Given the description of an element on the screen output the (x, y) to click on. 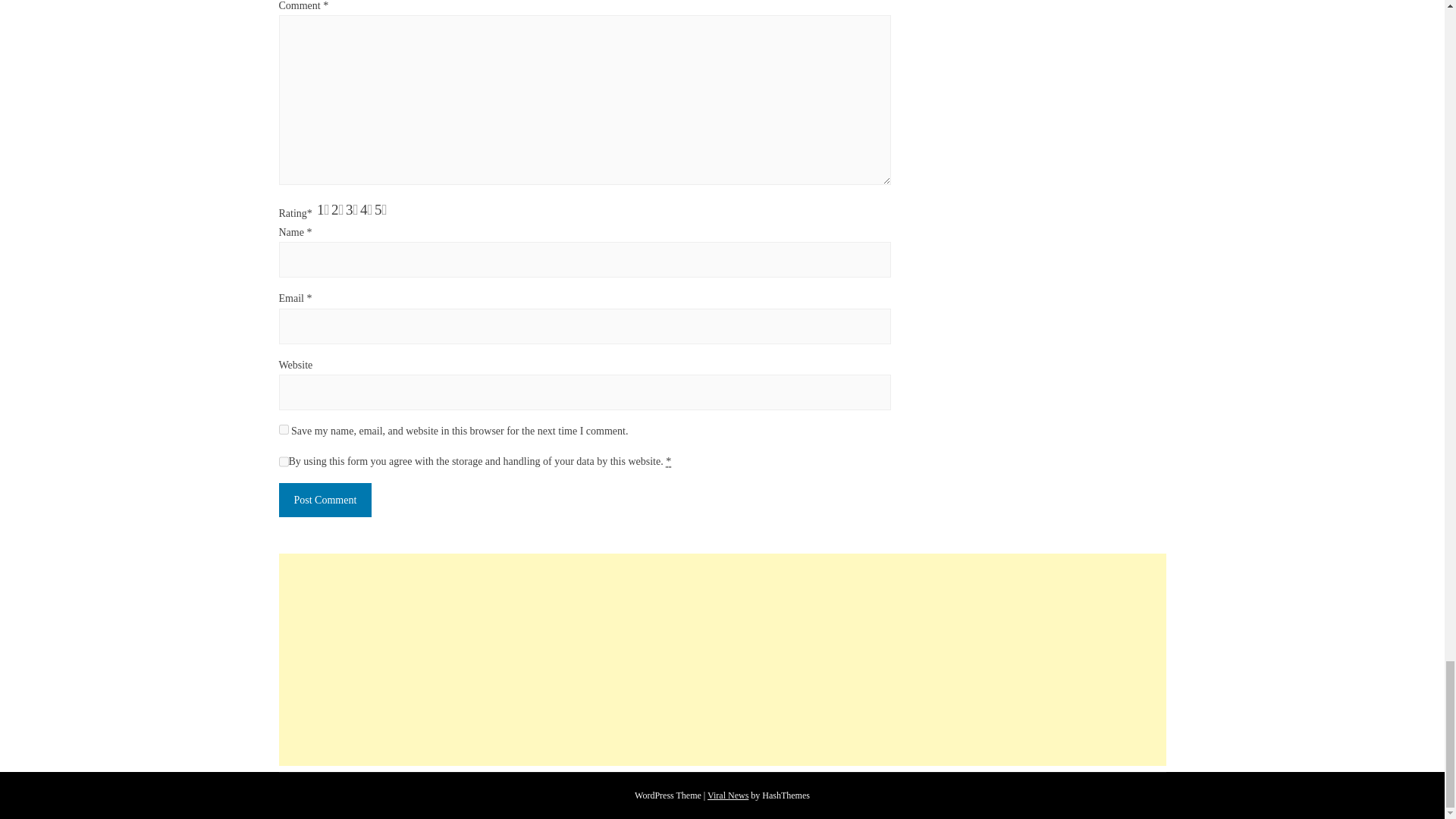
Post Comment (325, 499)
yes (283, 429)
